Given the description of an element on the screen output the (x, y) to click on. 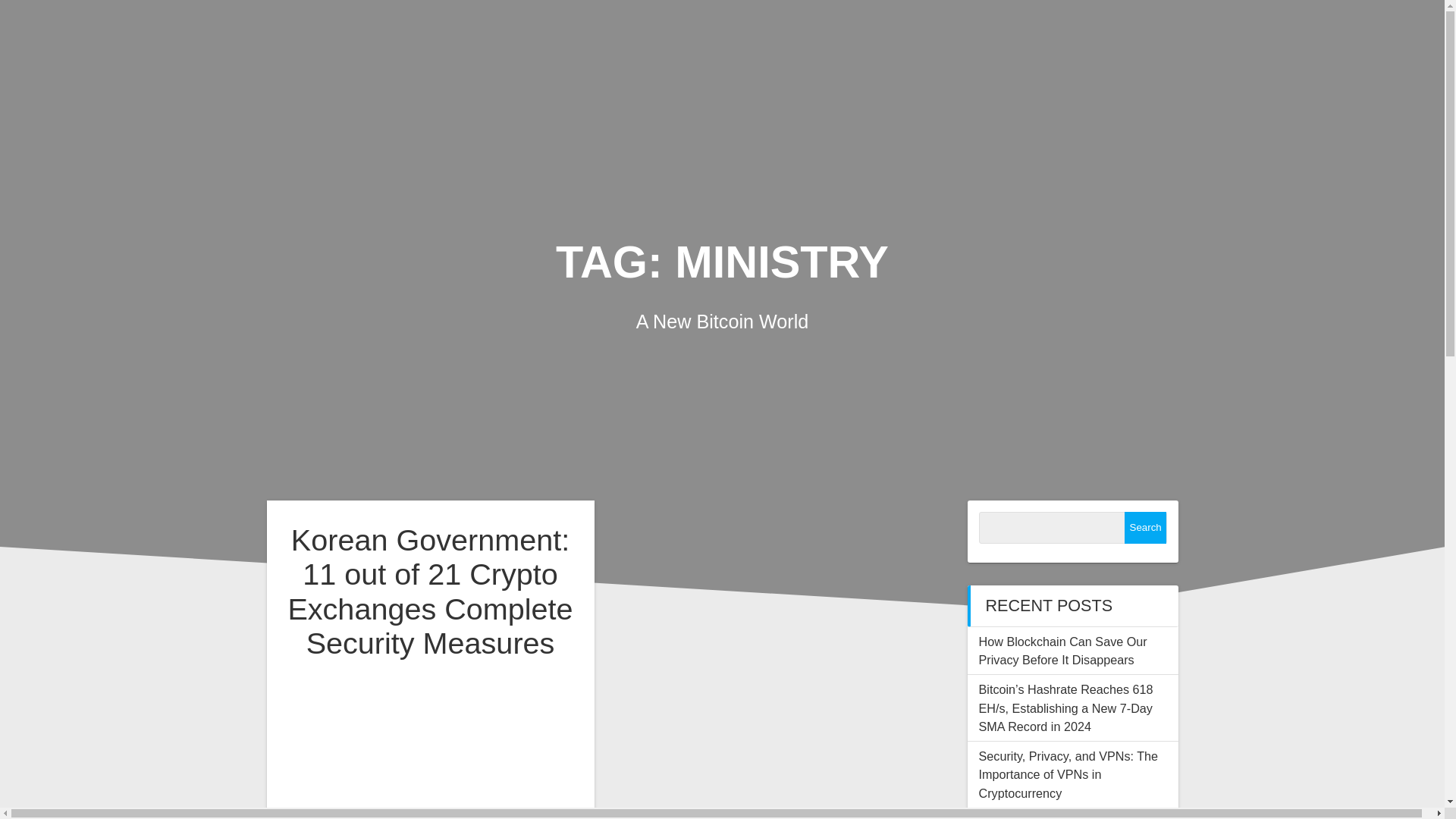
CONTACT (1316, 34)
HOME (1017, 34)
How Blockchain Can Save Our Privacy Before It Disappears (1062, 650)
NEWS (1099, 34)
Search (1145, 527)
PROJECTS (1200, 34)
Search (1145, 527)
